Given the description of an element on the screen output the (x, y) to click on. 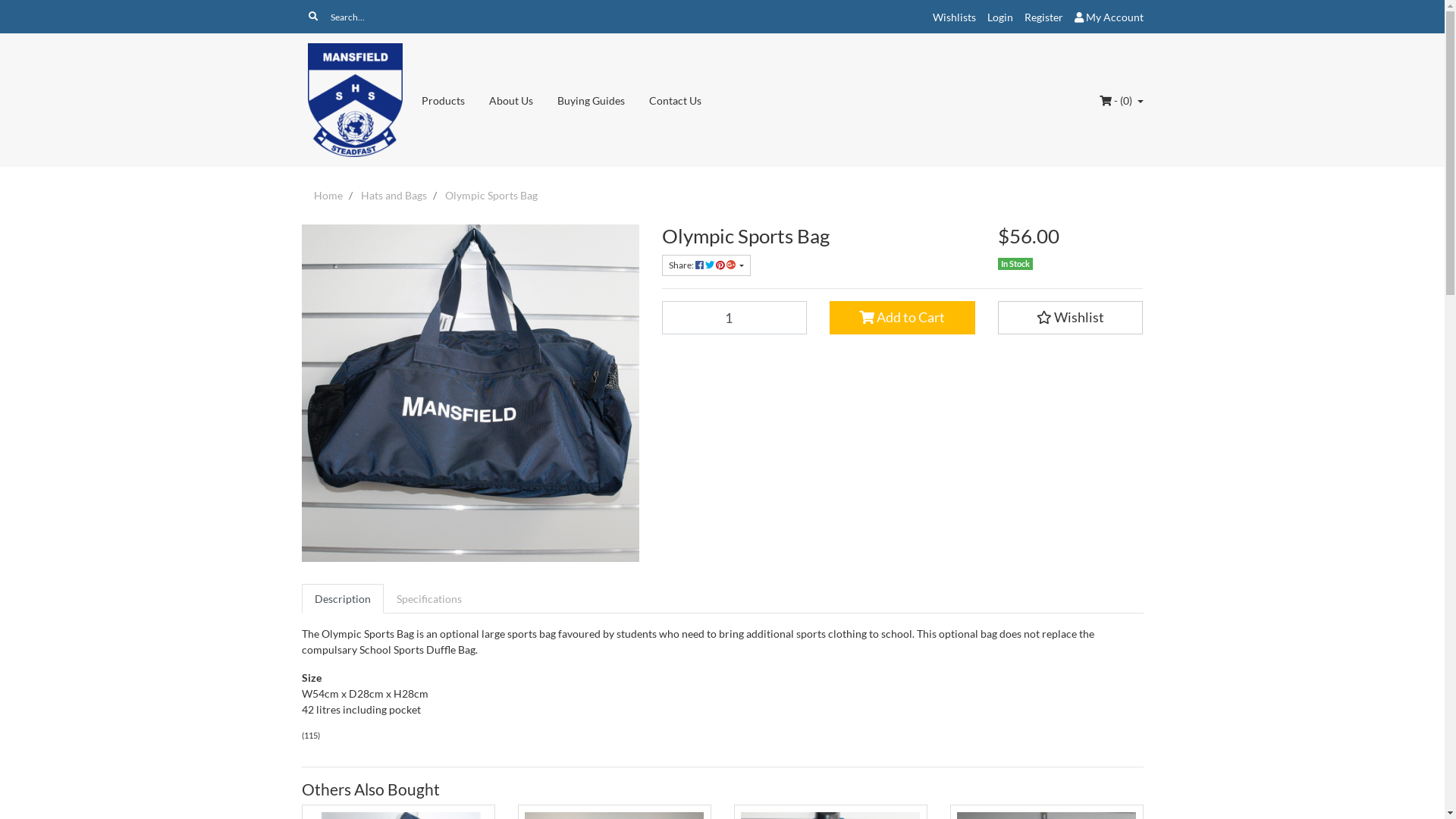
Buying Guides Element type: text (591, 100)
Hats and Bags Element type: text (393, 194)
About Us Element type: text (510, 100)
Login Element type: text (1000, 16)
Register Element type: text (1042, 16)
My Account Element type: text (1107, 16)
Products Element type: text (442, 100)
Specifications Element type: text (428, 598)
Add to Cart Element type: text (902, 317)
Share: Element type: text (705, 265)
Description Element type: text (342, 598)
Olympic Sports Bag Element type: text (490, 194)
Contact Us Element type: text (675, 100)
Wishlists Element type: text (953, 16)
Wishlist Element type: text (1070, 317)
- (0) Element type: text (1121, 100)
Search Element type: text (312, 16)
Home Element type: text (327, 194)
